Given the description of an element on the screen output the (x, y) to click on. 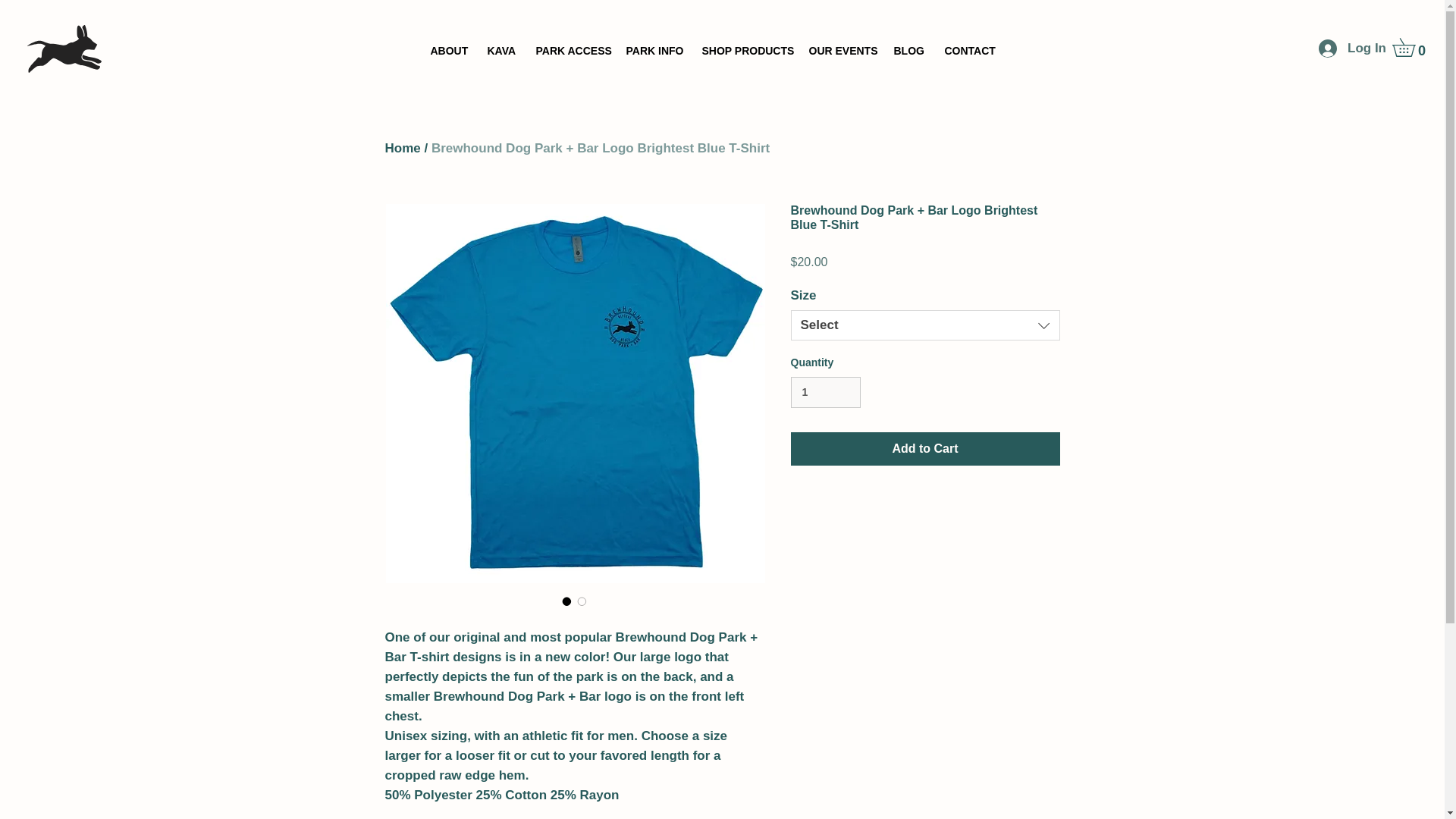
SHOP PRODUCTS (743, 51)
Home (402, 147)
Select (924, 325)
CONTACT (968, 51)
KAVA (500, 51)
ABOUT (447, 51)
0 (1411, 46)
Add to Cart (924, 449)
PARK ACCESS (569, 51)
OUR EVENTS (839, 51)
